Given the description of an element on the screen output the (x, y) to click on. 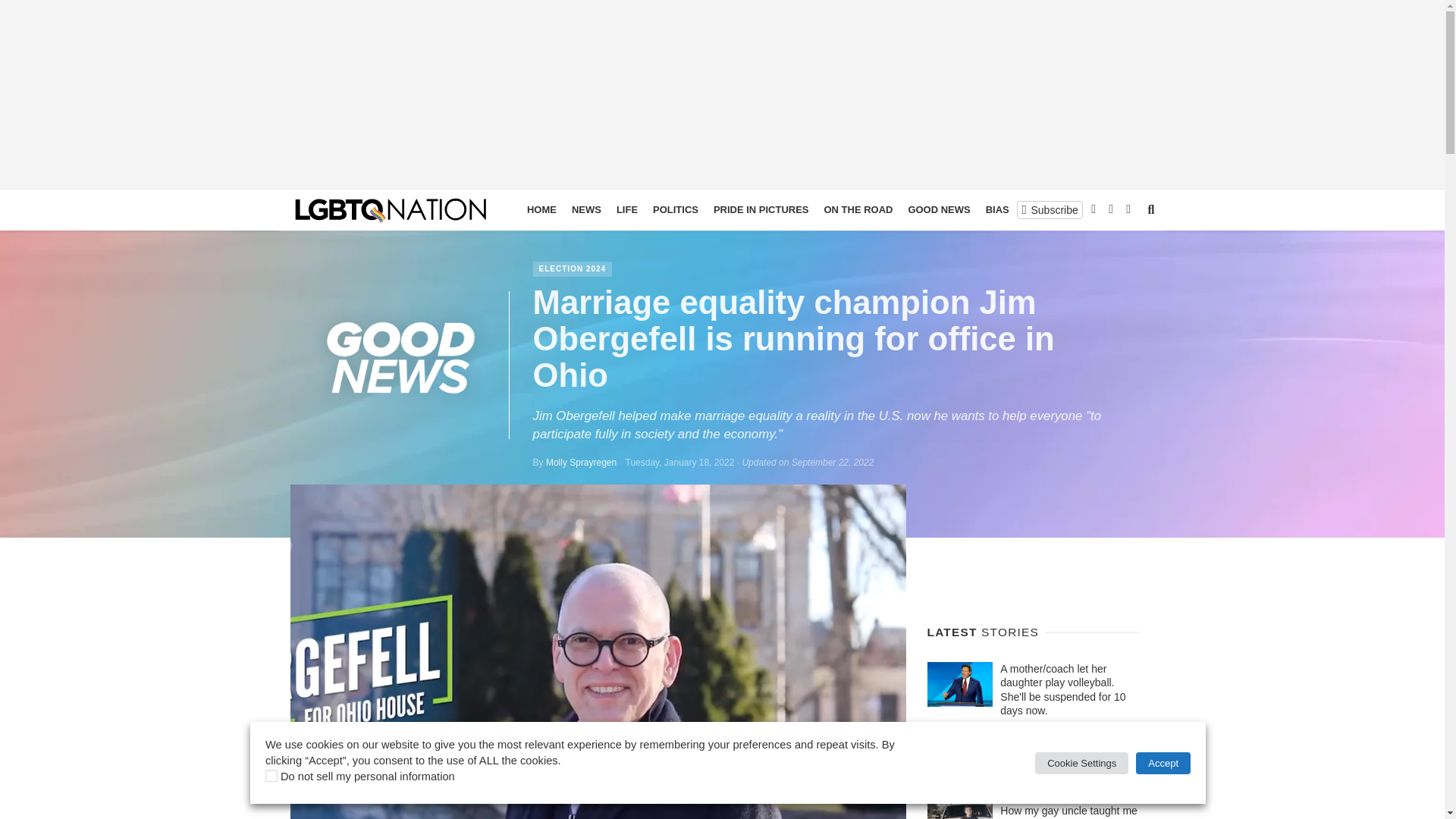
on (271, 775)
ELECTION 2024 (572, 268)
HOME (541, 209)
LIFE (626, 209)
Molly Sprayregen (580, 462)
NEWS (586, 209)
GOOD NEWS (937, 209)
BIAS WATCH (1016, 209)
Tuesday, January 18, 2022 pm31 18:00:09 (680, 462)
